Given the description of an element on the screen output the (x, y) to click on. 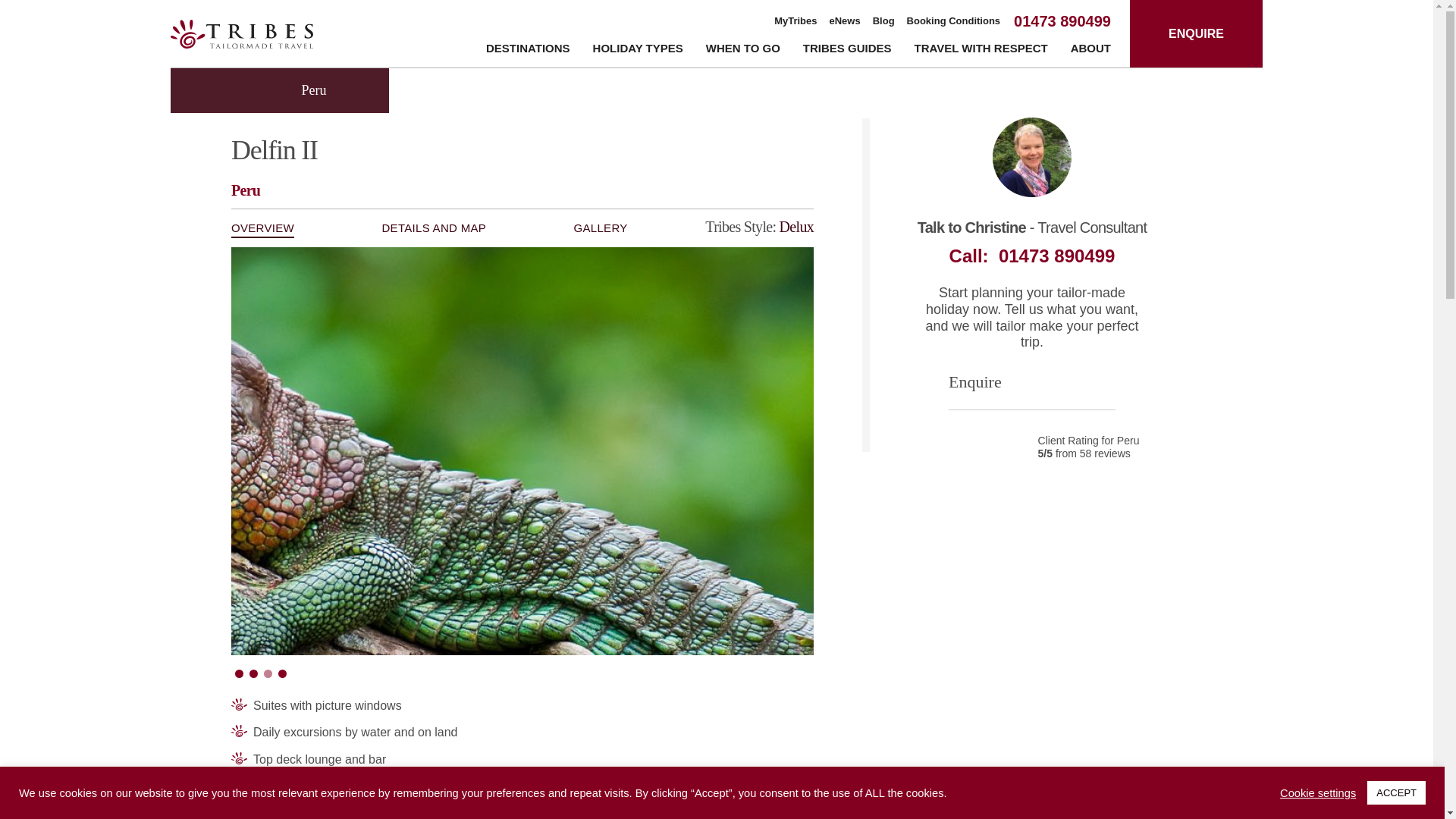
ABOUT (1090, 50)
TRIBES GUIDES (847, 50)
Blog (883, 21)
WHEN TO GO (743, 50)
TRAVEL WITH RESPECT (981, 50)
Booking Conditions (953, 21)
DESTINATIONS (528, 50)
Tribes (241, 33)
eNews (844, 21)
MyTribes (795, 21)
HOLIDAY TYPES (637, 50)
Destinations (528, 50)
Tribes (241, 33)
